Given the description of an element on the screen output the (x, y) to click on. 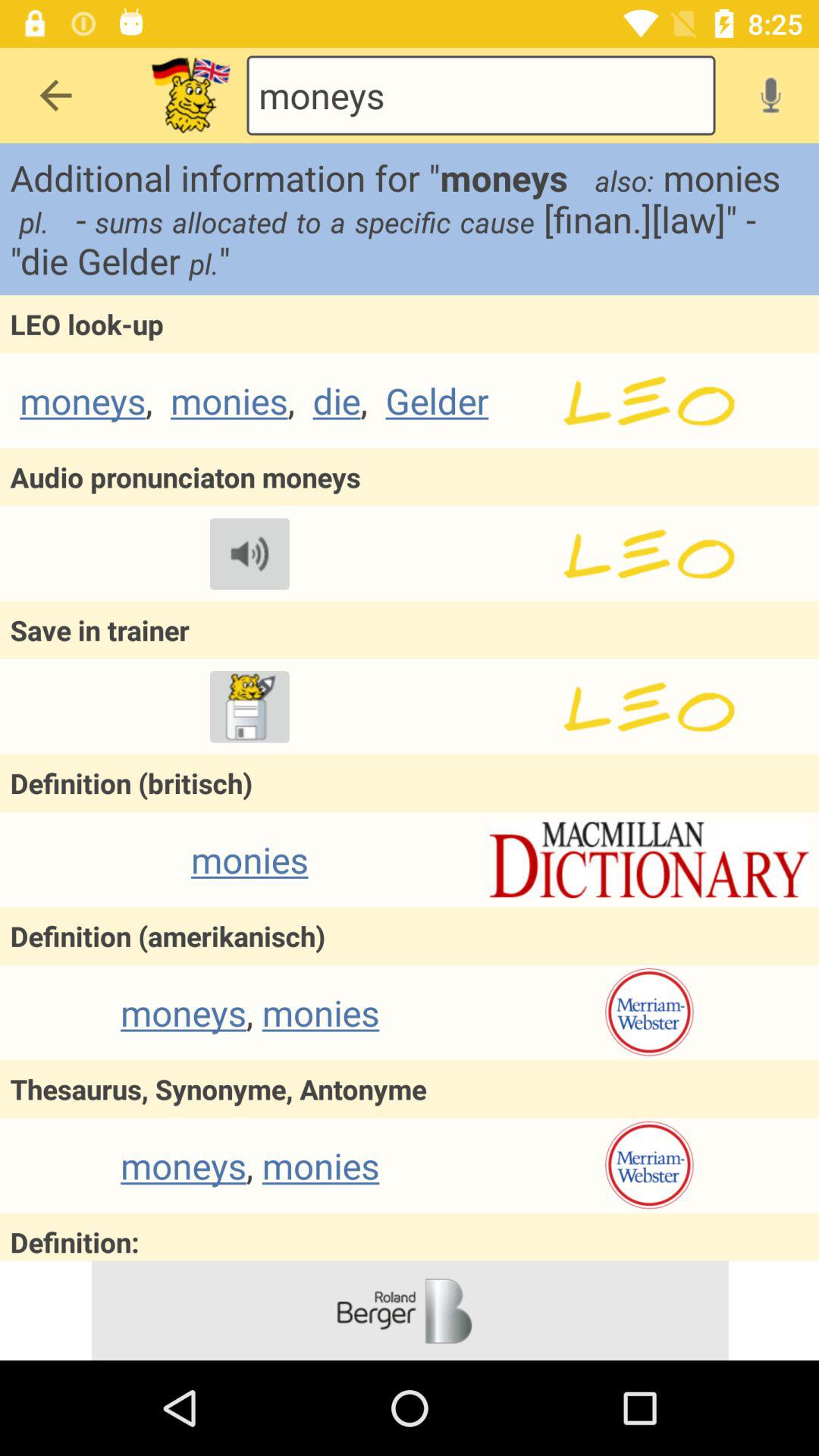
toggle trainer option (249, 706)
